Given the description of an element on the screen output the (x, y) to click on. 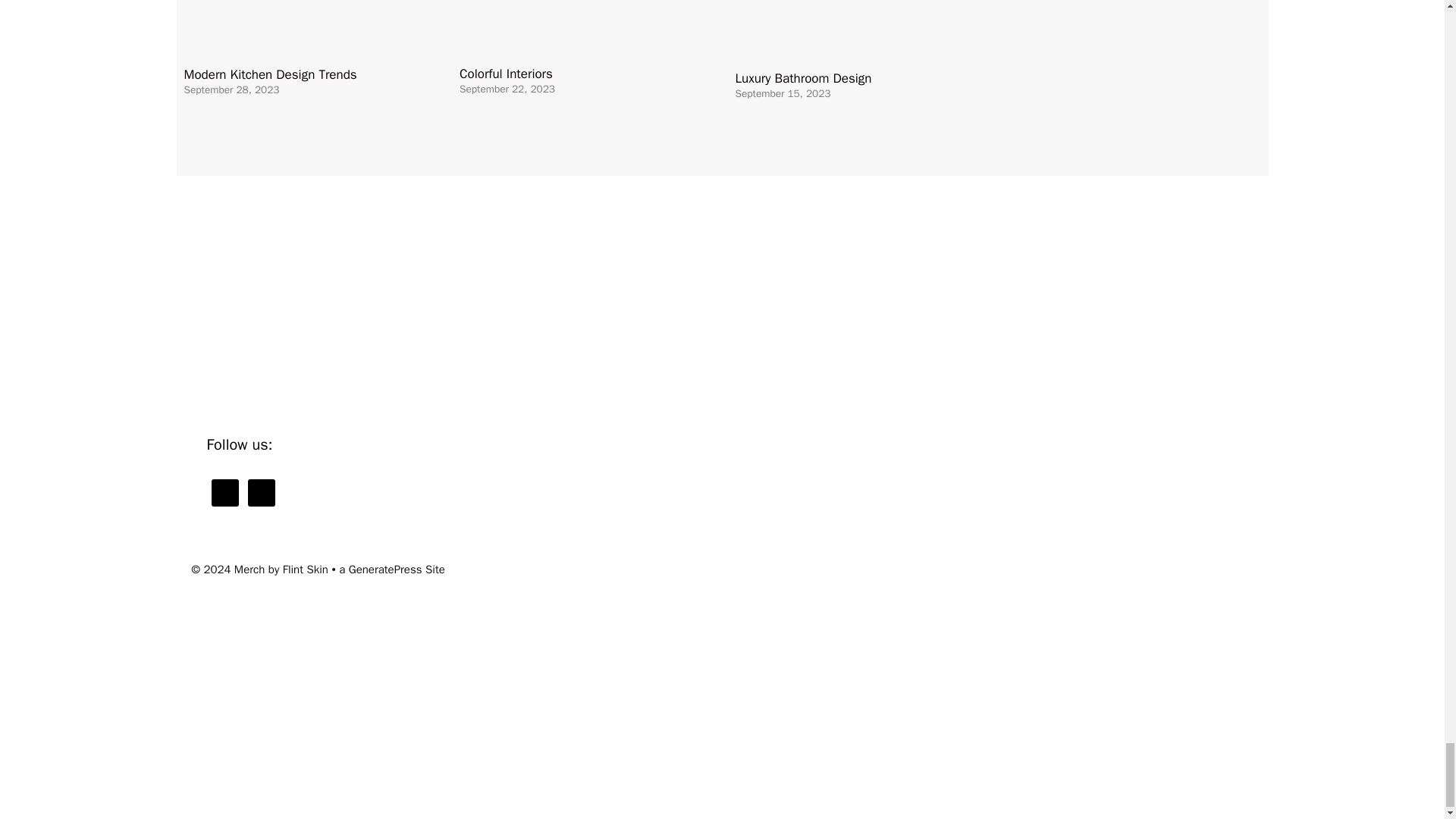
Colorful Interiors (506, 73)
GeneratePress (385, 569)
September 15, 2023 (783, 92)
Luxury Bathroom Design (803, 78)
Luxury Bathroom Design (1095, 48)
4:07 pm (507, 88)
September 22, 2023 (507, 88)
6:24 am (783, 92)
9:52 am (231, 89)
Modern Kitchen Design Trends (593, 44)
September 28, 2023 (231, 89)
Colorful Interiors (869, 43)
Modern Kitchen Design Trends (269, 74)
